Given the description of an element on the screen output the (x, y) to click on. 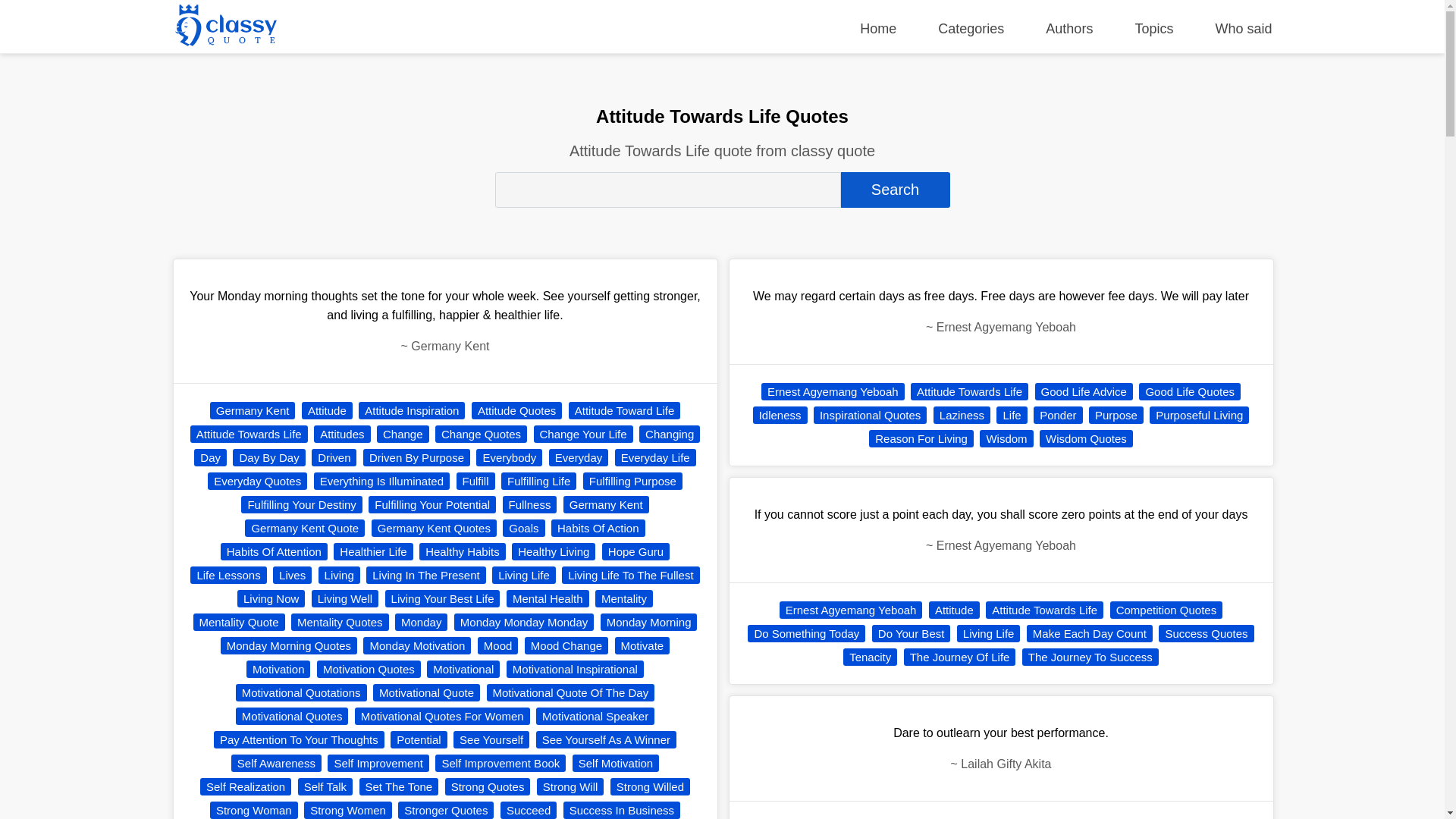
Fulfilling Purpose (632, 480)
Attitude Toward Life (624, 410)
Change Your Life (583, 434)
Who said (1242, 28)
Search (894, 189)
Attitude Quotes (516, 410)
Germany Kent (606, 504)
Germany Kent Quotes (433, 528)
Change (403, 434)
Habits Of Attention (274, 551)
